Given the description of an element on the screen output the (x, y) to click on. 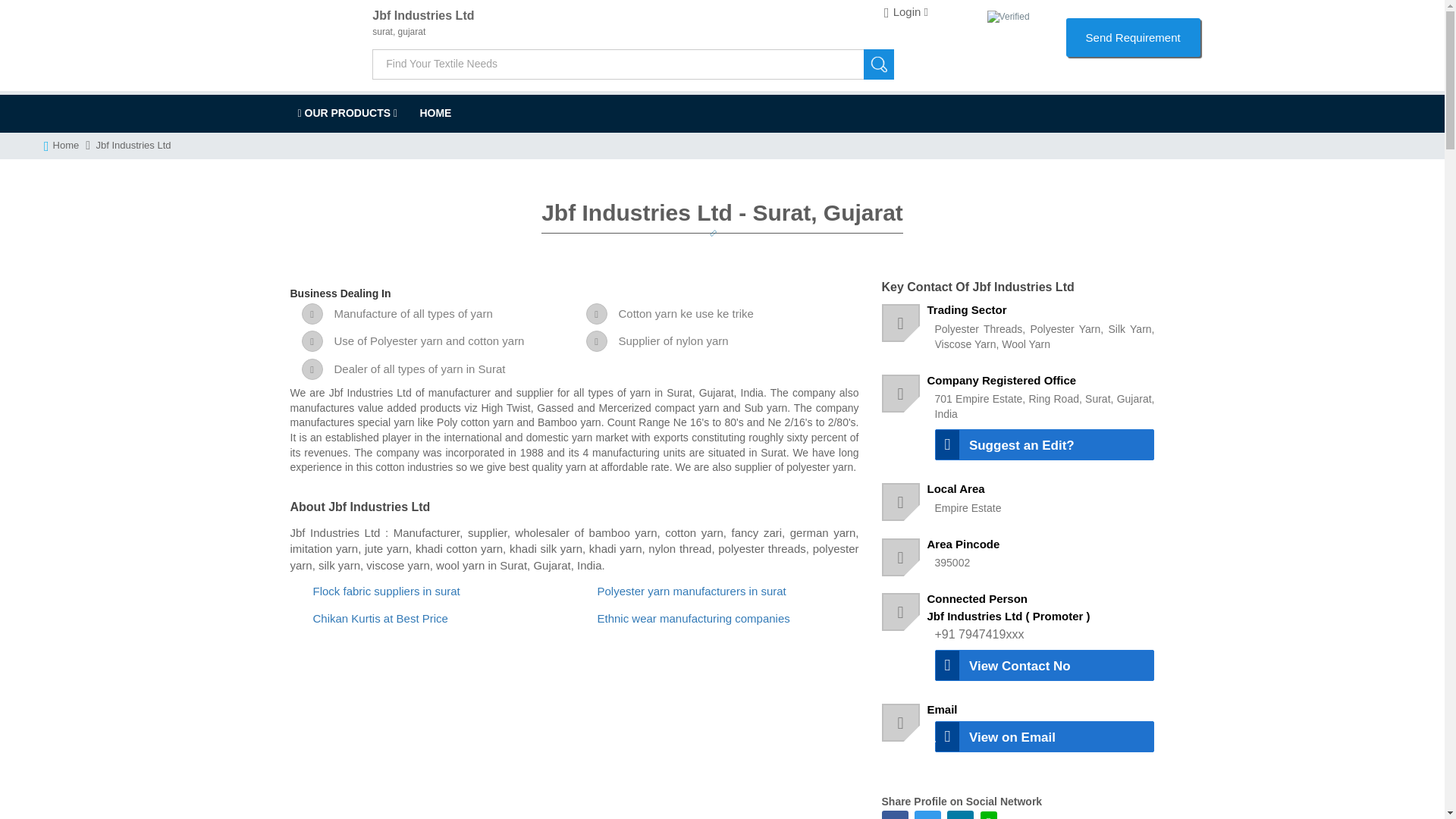
Login (905, 11)
Chikan Kurtis at Best Price (379, 617)
Home (68, 145)
Polyester yarn manufacturers in surat (691, 590)
OUR PRODUCTS (347, 113)
Jbf Industries Ltd (662, 15)
HOME (435, 113)
Jbf Industries Ltd (435, 113)
Send Requirement (1132, 37)
Jbf Industries Ltd surat, gujarat (662, 15)
